Given the description of an element on the screen output the (x, y) to click on. 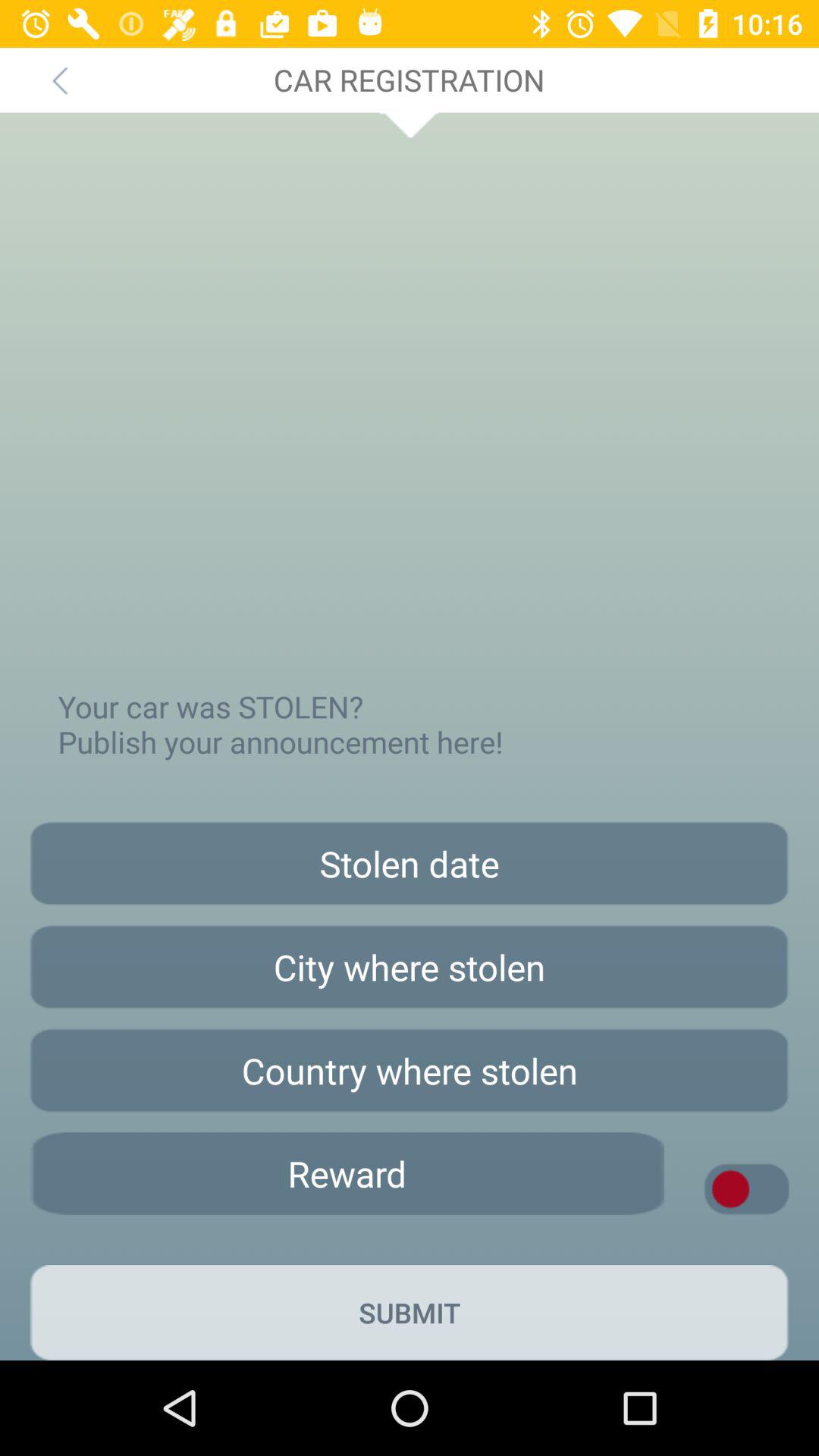
country where stolen (409, 1070)
